Given the description of an element on the screen output the (x, y) to click on. 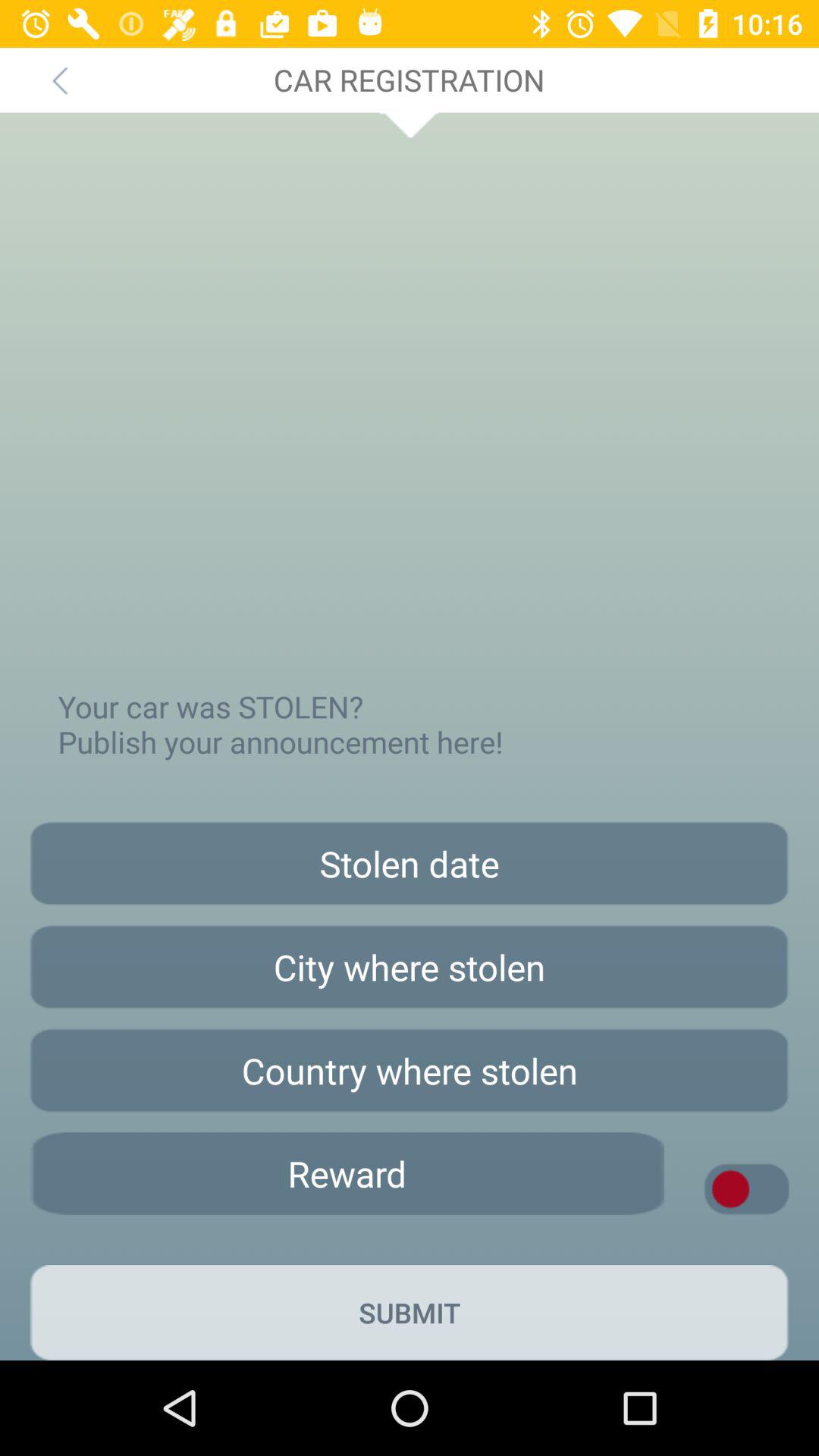
country where stolen (409, 1070)
